Given the description of an element on the screen output the (x, y) to click on. 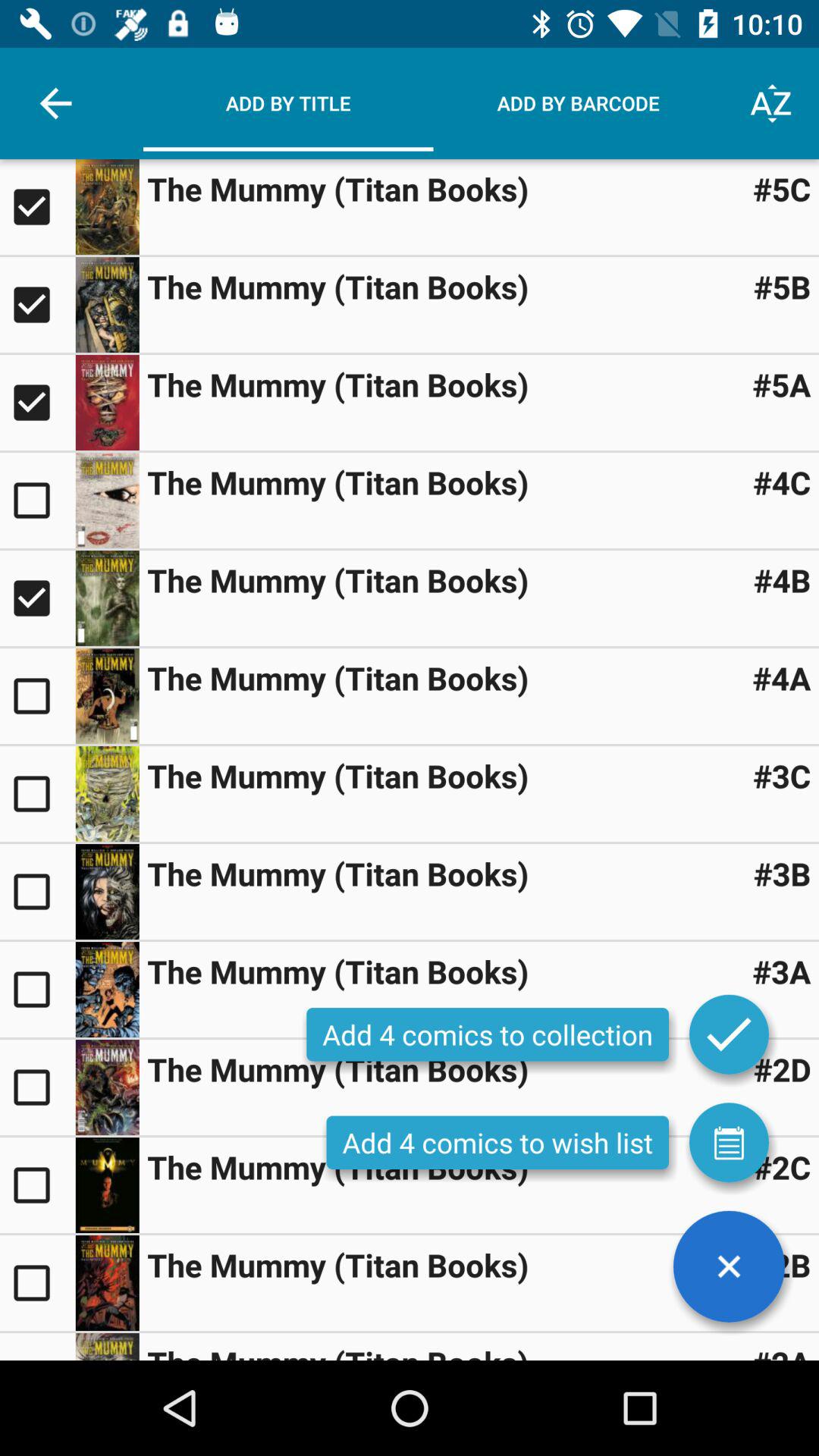
open wishlist (729, 1142)
